Given the description of an element on the screen output the (x, y) to click on. 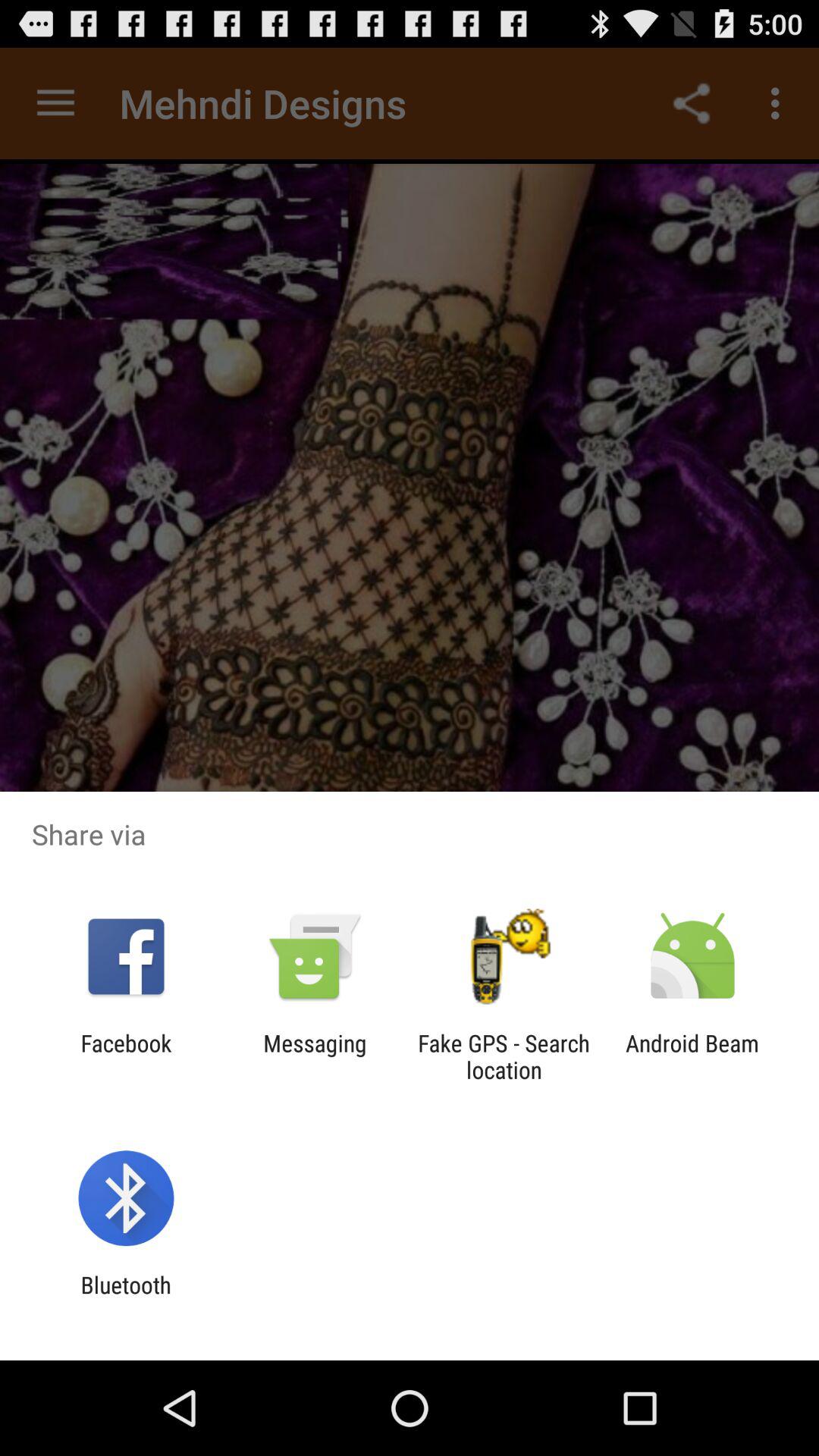
turn on the app next to fake gps search icon (314, 1056)
